Given the description of an element on the screen output the (x, y) to click on. 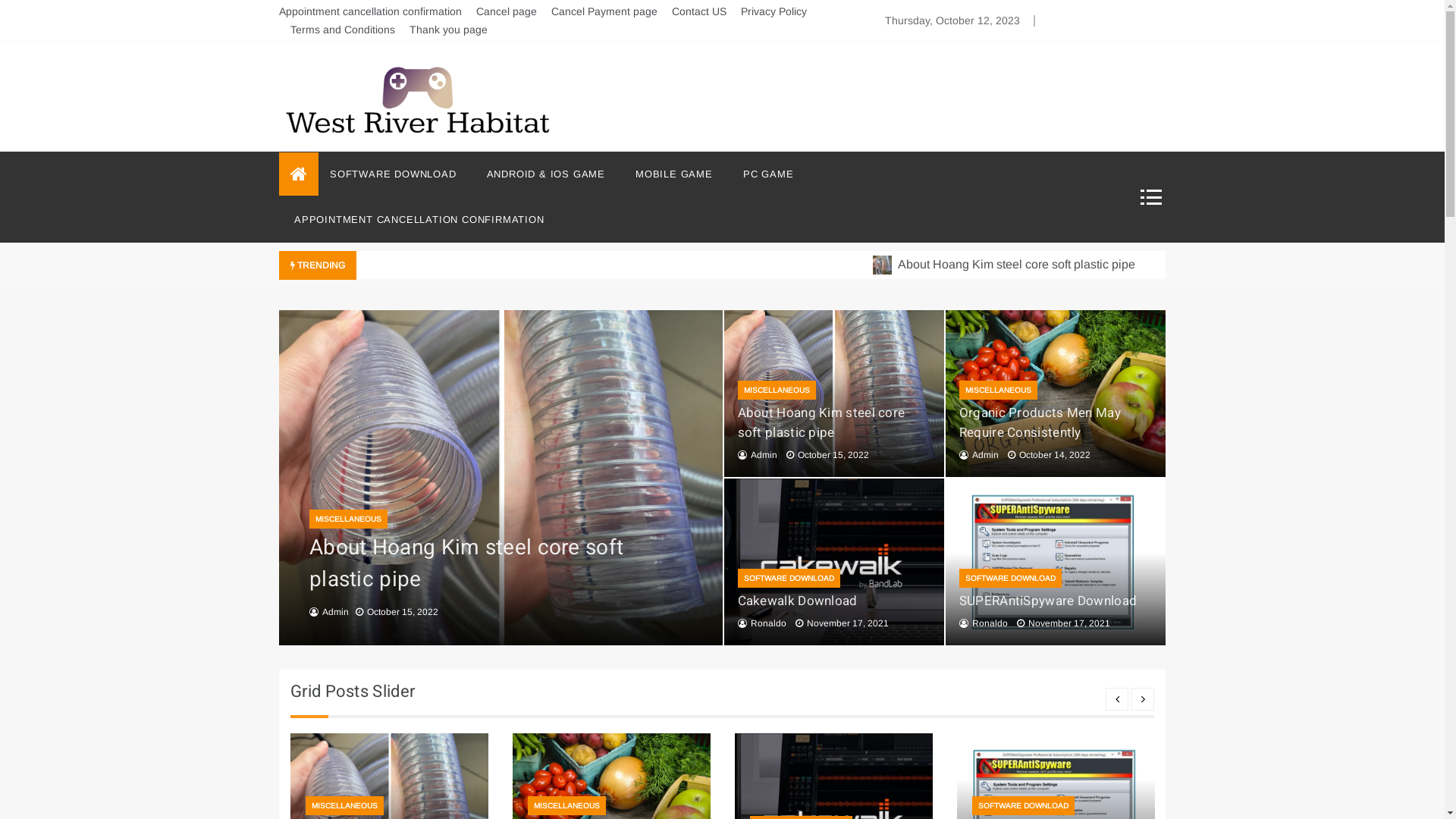
About Hoang Kim steel core soft plastic pipe Element type: text (466, 563)
Cancel page Element type: text (506, 11)
SOFTWARE DOWNLOAD Element type: text (1023, 805)
Terms and Conditions Element type: text (342, 29)
October 15, 2022 Element type: text (826, 454)
Ronaldo Element type: text (768, 623)
Organic Products Men May Require Consistently Element type: text (1039, 422)
MISCELLANEOUS Element type: text (348, 518)
October 15, 2022 Element type: text (396, 611)
November 17, 2021 Element type: text (1063, 623)
Cancel Payment page Element type: text (604, 11)
SOFTWARE DOWNLOAD Element type: text (400, 174)
Admin Element type: text (985, 454)
MISCELLANEOUS Element type: text (566, 805)
APPOINTMENT CANCELLATION CONFIRMATION Element type: text (411, 219)
MISCELLANEOUS Element type: text (344, 805)
Glamour Mama Element type: text (356, 166)
MISCELLANEOUS Element type: text (776, 389)
About Hoang Kim steel core soft plastic pipe Element type: text (1155, 263)
SOFTWARE DOWNLOAD Element type: text (788, 577)
MISCELLANEOUS Element type: text (998, 389)
Cakewalk Download Element type: text (796, 600)
Admin Element type: text (763, 454)
Privacy Policy Element type: text (773, 11)
SOFTWARE DOWNLOAD Element type: text (1010, 577)
Admin Element type: text (335, 611)
PC GAME Element type: text (768, 174)
Contact US Element type: text (698, 11)
MOBILE GAME Element type: text (674, 174)
Thank you page Element type: text (448, 29)
Ronaldo Element type: text (989, 623)
About Hoang Kim steel core soft plastic pipe Element type: text (820, 422)
SUPERAntiSpyware Download Element type: text (1048, 600)
ANDROID & IOS GAME Element type: text (545, 174)
October 14, 2022 Element type: text (1048, 454)
November 17, 2021 Element type: text (841, 623)
Appointment cancellation confirmation Element type: text (370, 11)
